Given the description of an element on the screen output the (x, y) to click on. 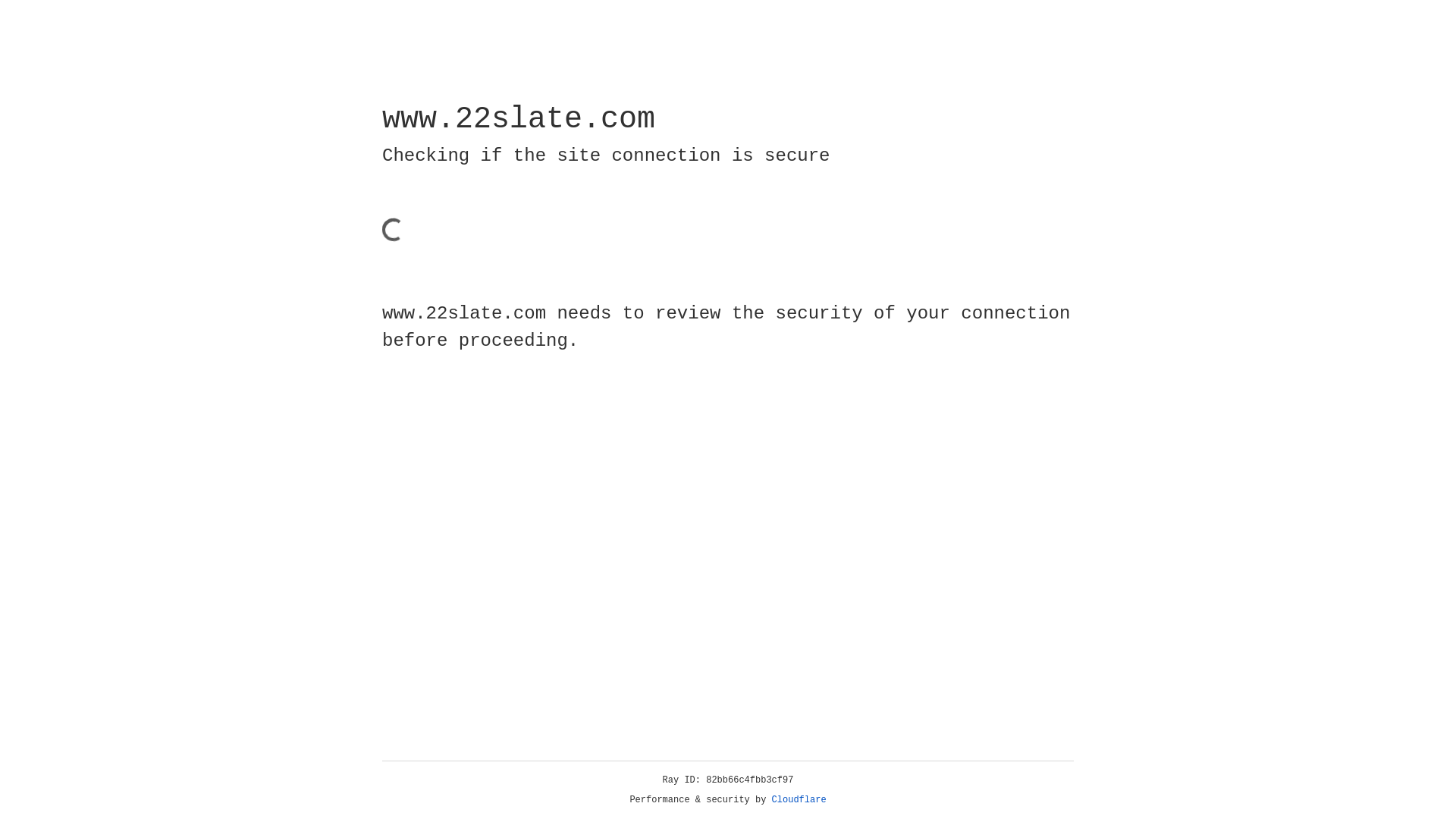
Cloudflare Element type: text (798, 799)
